Given the description of an element on the screen output the (x, y) to click on. 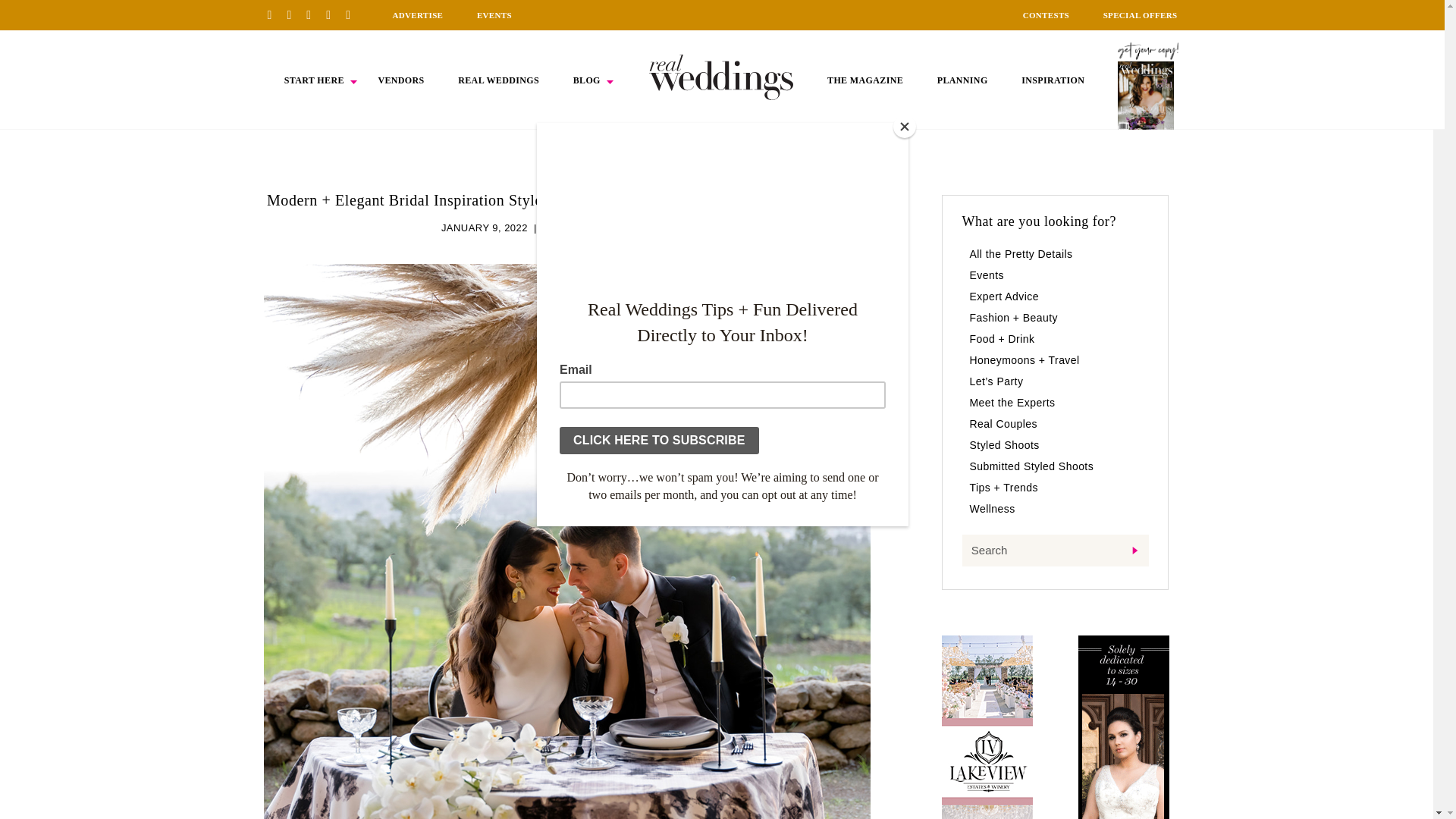
HOME (721, 76)
SUBMITTED STYLED SHOOTS (618, 227)
Twitter (334, 14)
ADVERTISE (416, 14)
REAL WEDDINGS (498, 80)
SPECIAL OFFERS (1140, 14)
Search (1054, 550)
CONTESTS (1045, 14)
Pinterest (274, 14)
EVENTS (494, 14)
Search (1054, 550)
THE MAGAZINE (864, 80)
VENDORS (400, 80)
INSPIRATION (1053, 80)
Instagram (313, 14)
